Given the description of an element on the screen output the (x, y) to click on. 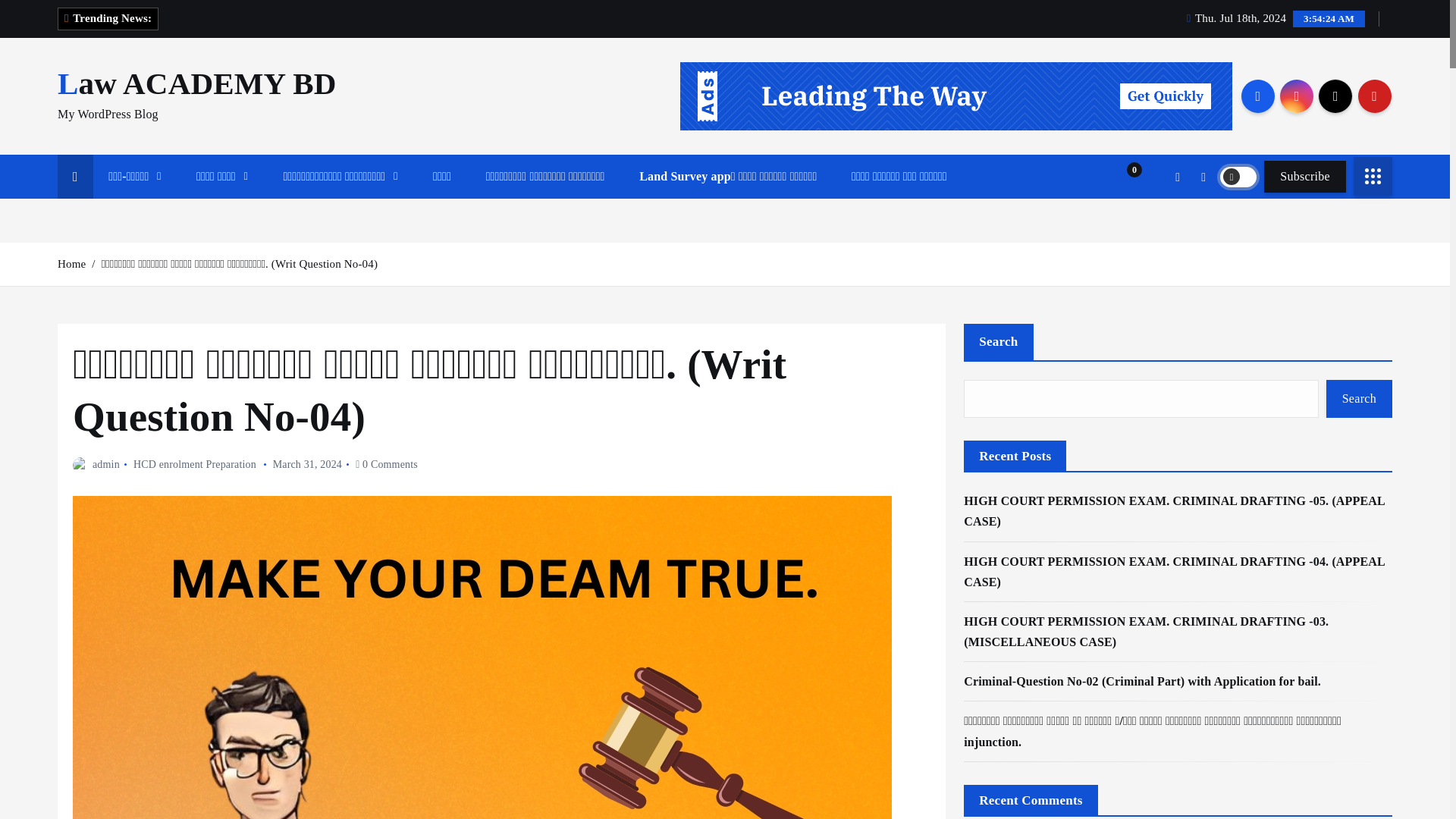
0 (1125, 177)
Law ACADEMY BD (197, 83)
